Given the description of an element on the screen output the (x, y) to click on. 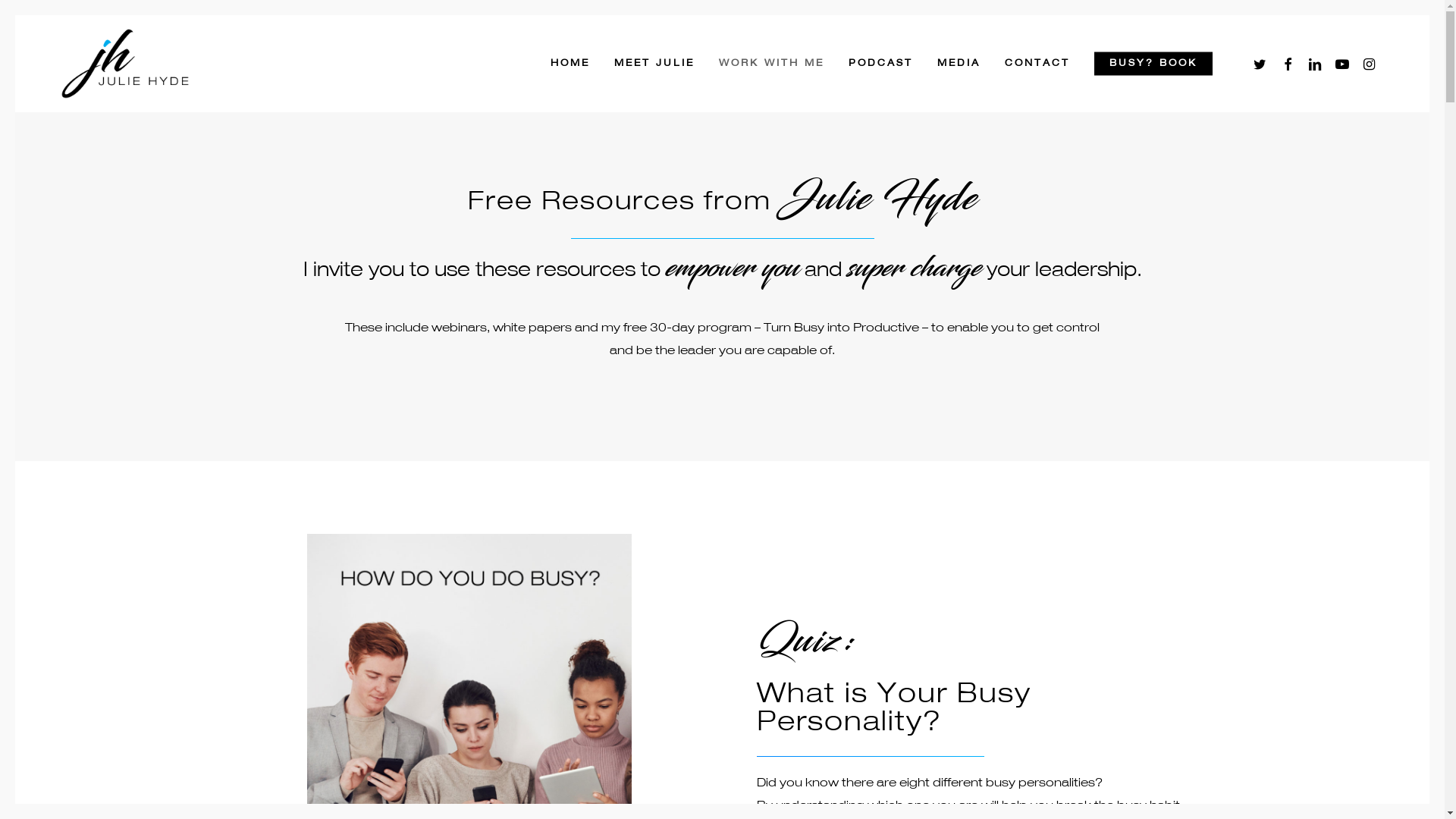
MEET JULIE Element type: text (654, 63)
YOUTUBE Element type: text (1342, 63)
BUSY? BOOK Element type: text (1153, 63)
TWITTER Element type: text (1260, 63)
HOME Element type: text (570, 63)
CONTACT Element type: text (1037, 63)
LINKEDIN Element type: text (1315, 63)
MEDIA Element type: text (958, 63)
WORK WITH ME Element type: text (771, 63)
PODCAST Element type: text (880, 63)
INSTAGRAM Element type: text (1369, 63)
FACEBOOK Element type: text (1288, 63)
